Given the description of an element on the screen output the (x, y) to click on. 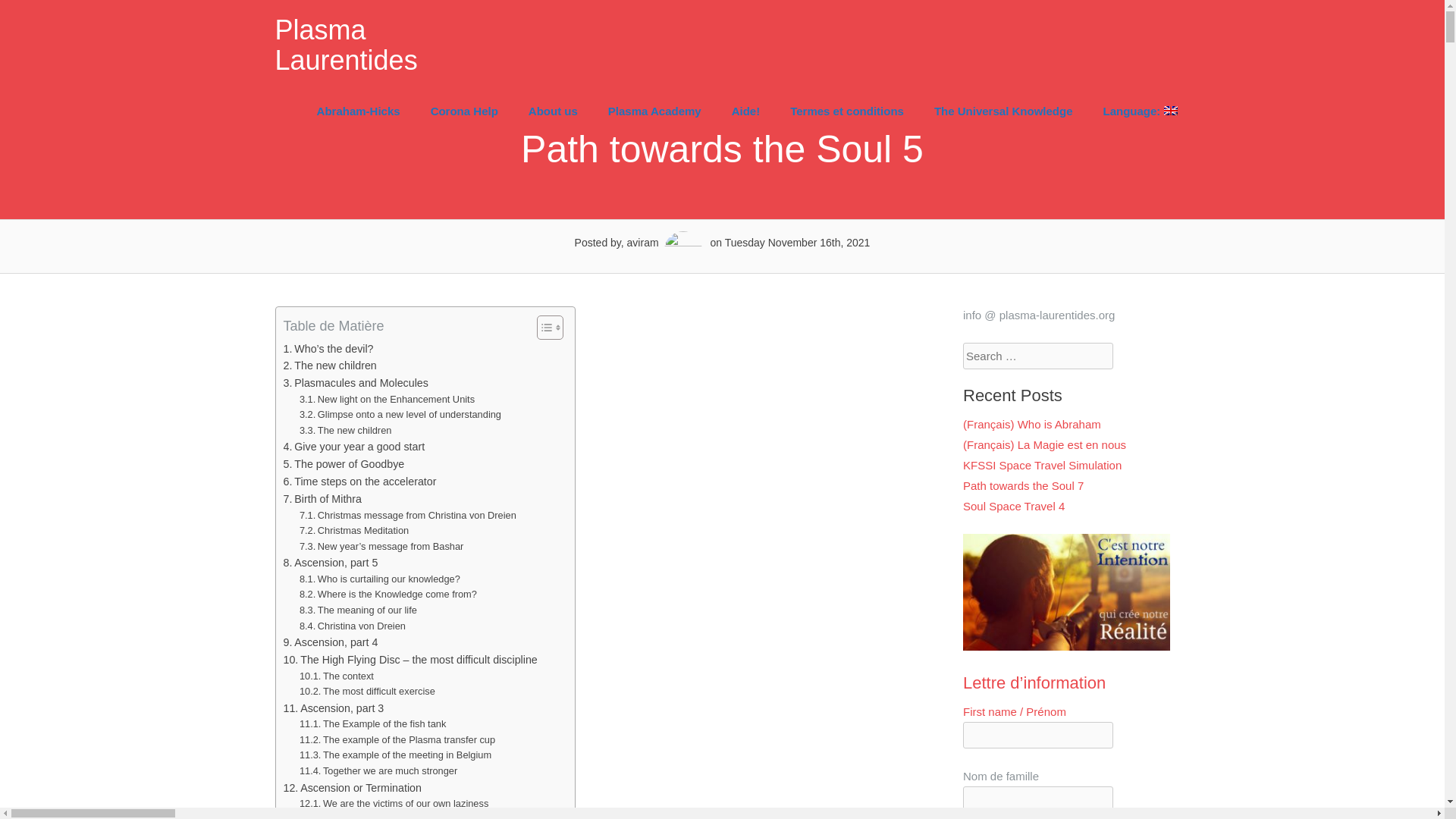
Corona Help (463, 110)
Glimpse onto a new level of understanding (399, 415)
Give your year a good start (354, 446)
Termes et conditions (846, 110)
Plasma Laurentides (345, 45)
New light on the Enhancement Units (386, 399)
Abraham-Hicks (357, 110)
Plasma Academy (654, 110)
The power of Goodbye (343, 464)
English (1139, 110)
